Given the description of an element on the screen output the (x, y) to click on. 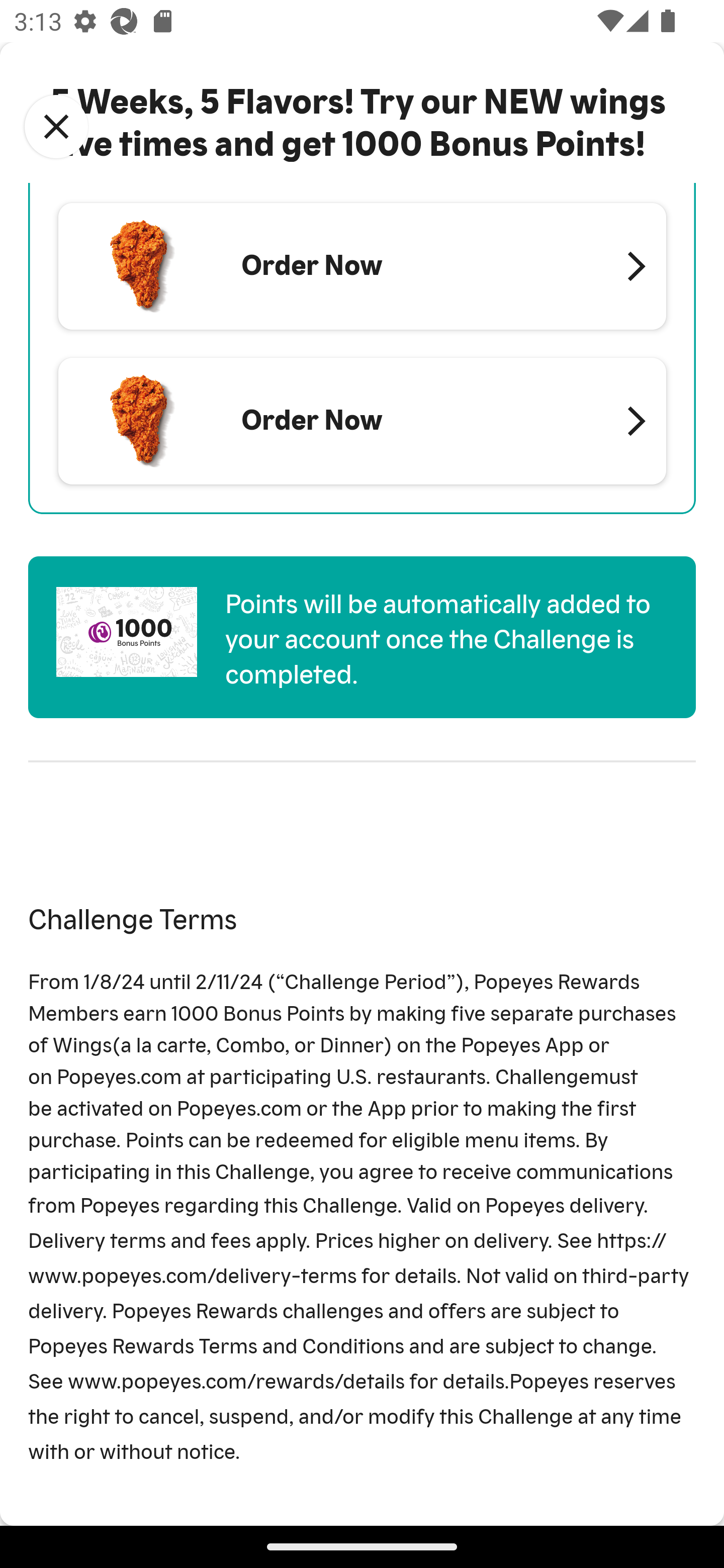
Close  (56, 126)
Order Now (362, 265)
Order Now (362, 420)
